Given the description of an element on the screen output the (x, y) to click on. 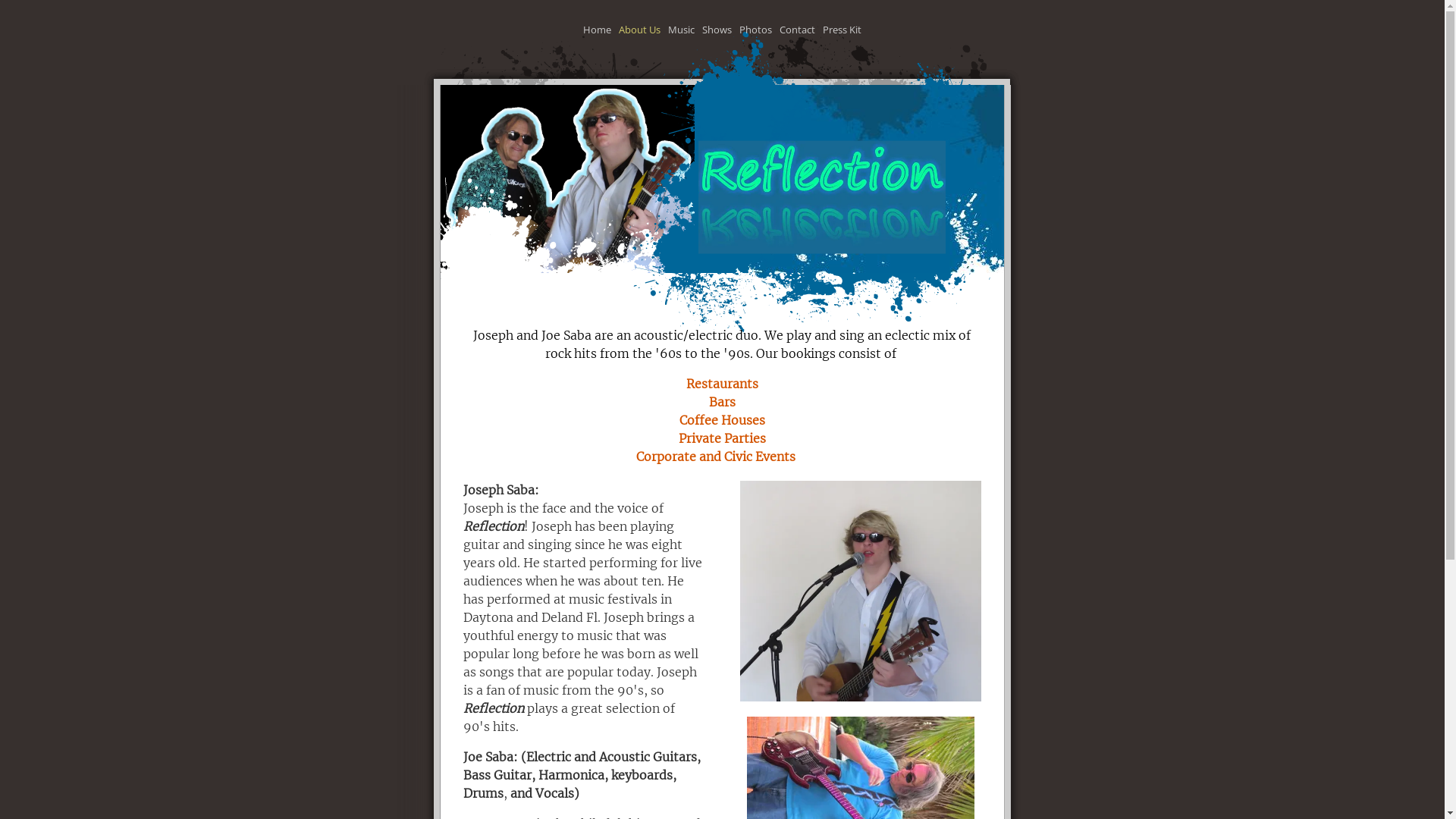
Photos Element type: text (755, 29)
Shows Element type: text (716, 29)
Contact Element type: text (797, 29)
Music Element type: text (681, 29)
Home Element type: text (597, 29)
Press Kit Element type: text (841, 29)
About Us Element type: text (639, 29)
